Given the description of an element on the screen output the (x, y) to click on. 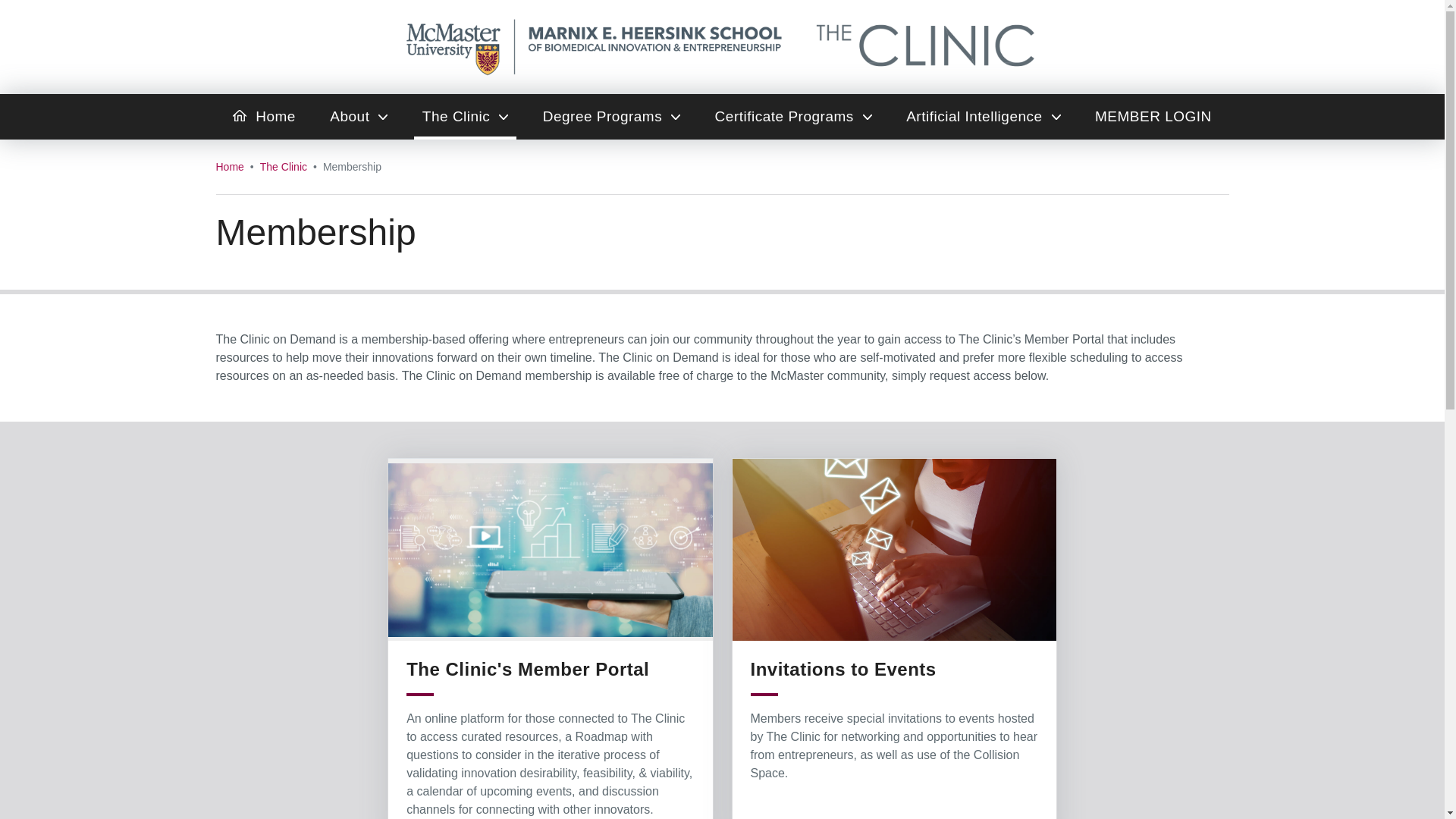
Home (264, 116)
Degree Programs (611, 116)
About (359, 116)
Artificial Intelligence (982, 116)
The Clinic (464, 116)
MEMBER LOGIN (1152, 116)
Home (229, 167)
Certificate Programs (793, 116)
The Clinic (283, 167)
